Given the description of an element on the screen output the (x, y) to click on. 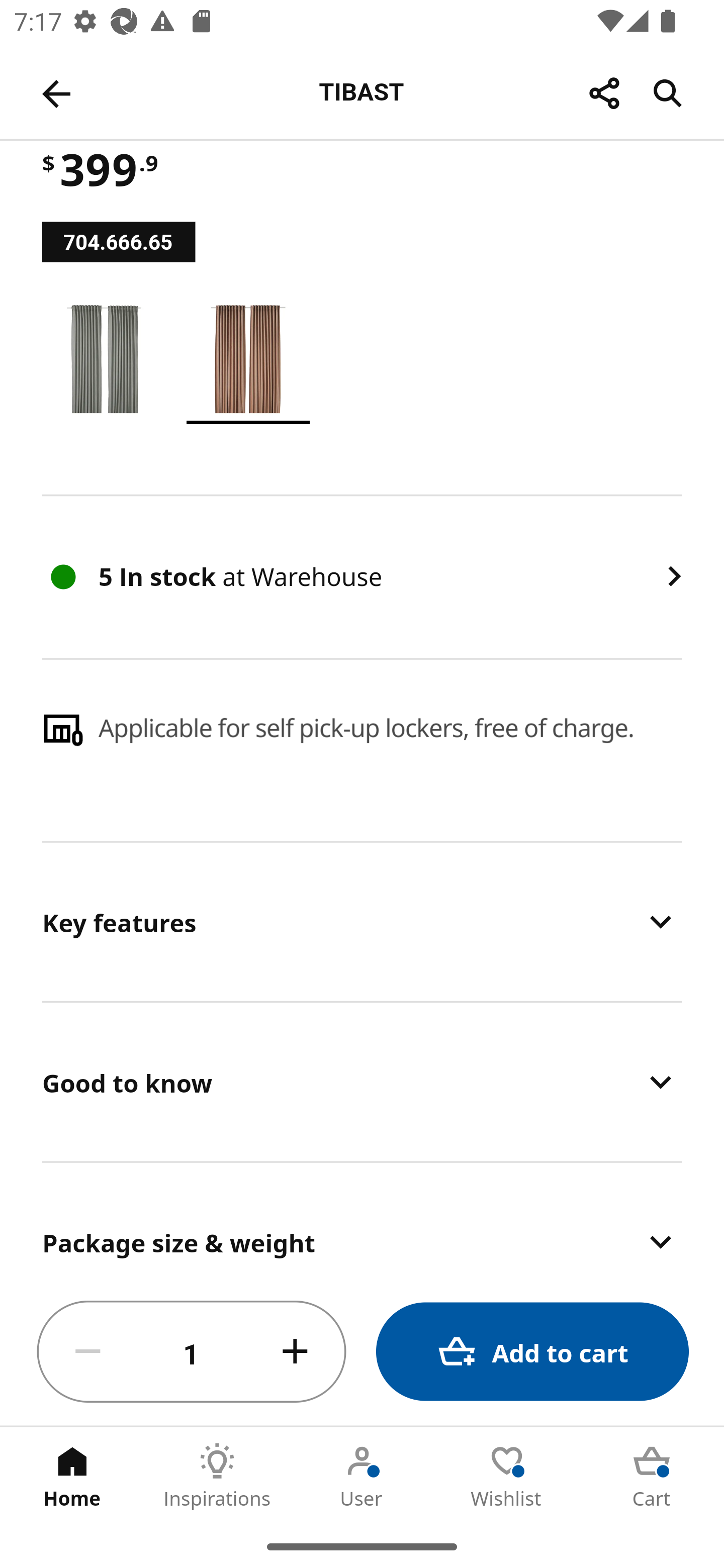
5 In stock at Warehouse (361, 576)
Key features (361, 920)
Good to know (361, 1081)
Package size & weight (361, 1221)
Add to cart (531, 1352)
1 (191, 1352)
Home
Tab 1 of 5 (72, 1476)
Inspirations
Tab 2 of 5 (216, 1476)
User
Tab 3 of 5 (361, 1476)
Wishlist
Tab 4 of 5 (506, 1476)
Cart
Tab 5 of 5 (651, 1476)
